Given the description of an element on the screen output the (x, y) to click on. 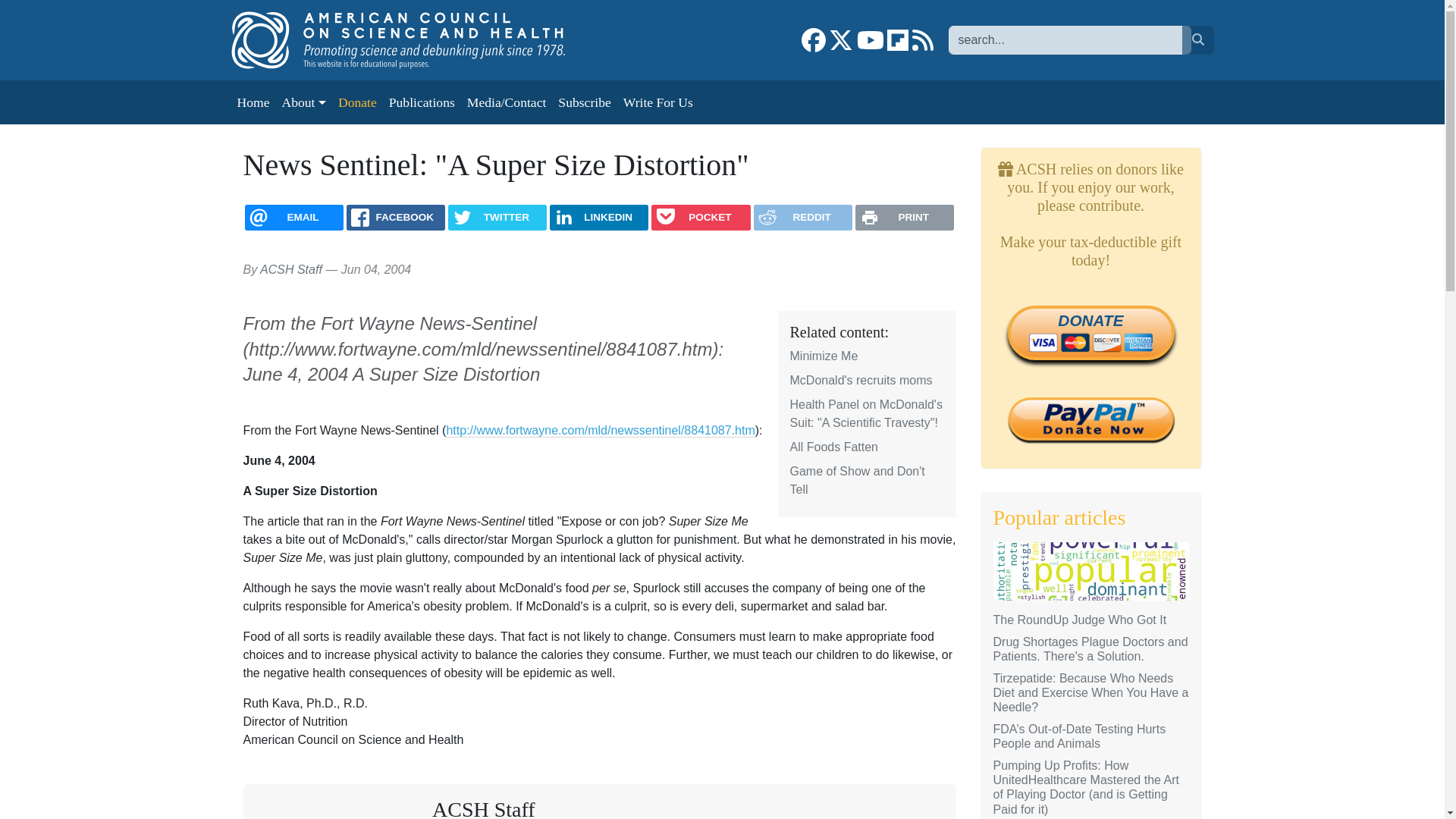
Health Panel on McDonald's Suit: "A Scientific Travesty"! (866, 413)
Skip to main content (60, 10)
ACSH Staff (483, 808)
Publications (421, 101)
EMAIL (293, 217)
Subscribe (583, 101)
LINKEDIN (598, 217)
Write For Us (657, 101)
Home (413, 39)
PRINT (904, 217)
